Given the description of an element on the screen output the (x, y) to click on. 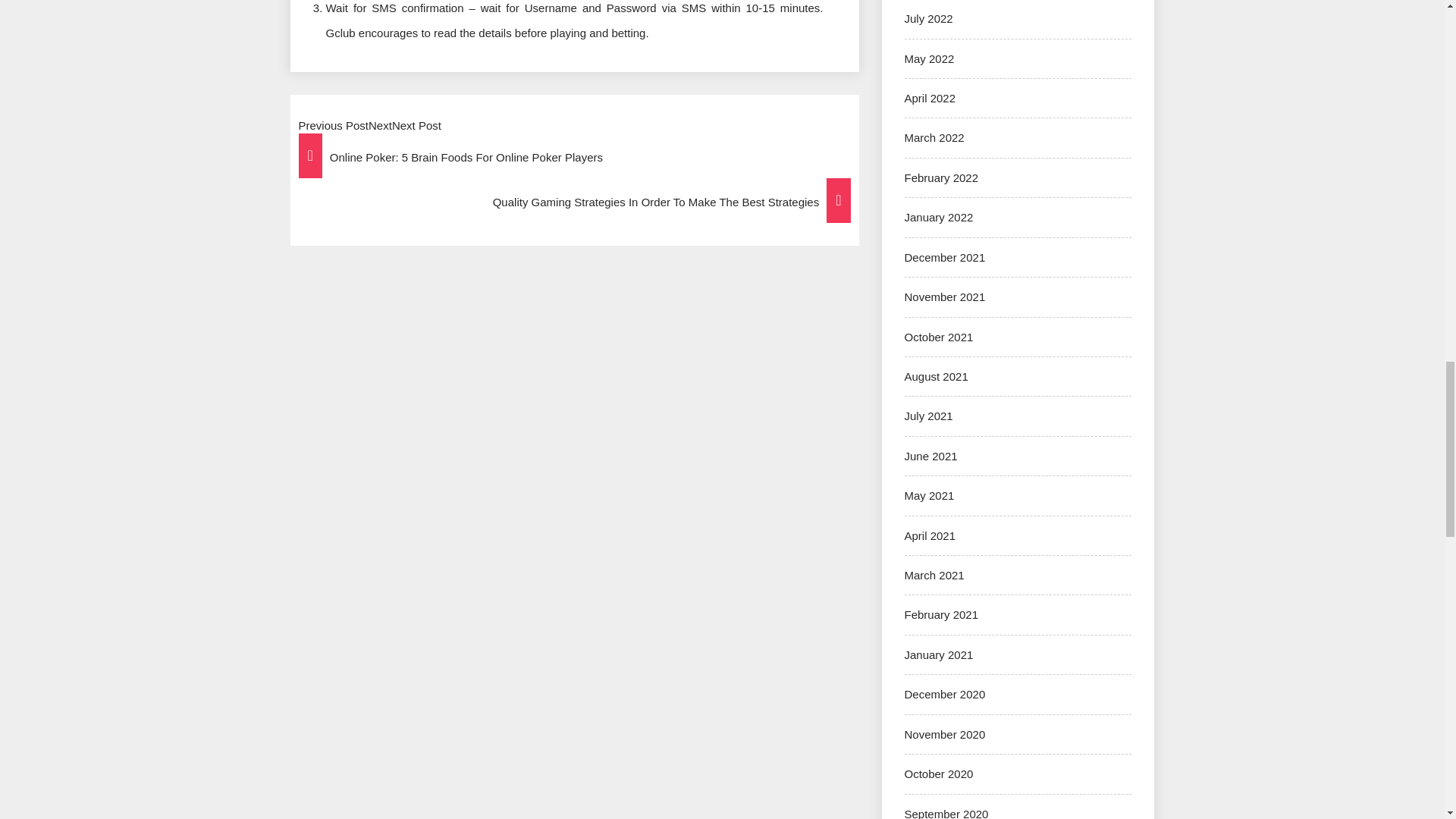
July 2022 (928, 18)
April 2022 (929, 97)
May 2022 (928, 58)
